Given the description of an element on the screen output the (x, y) to click on. 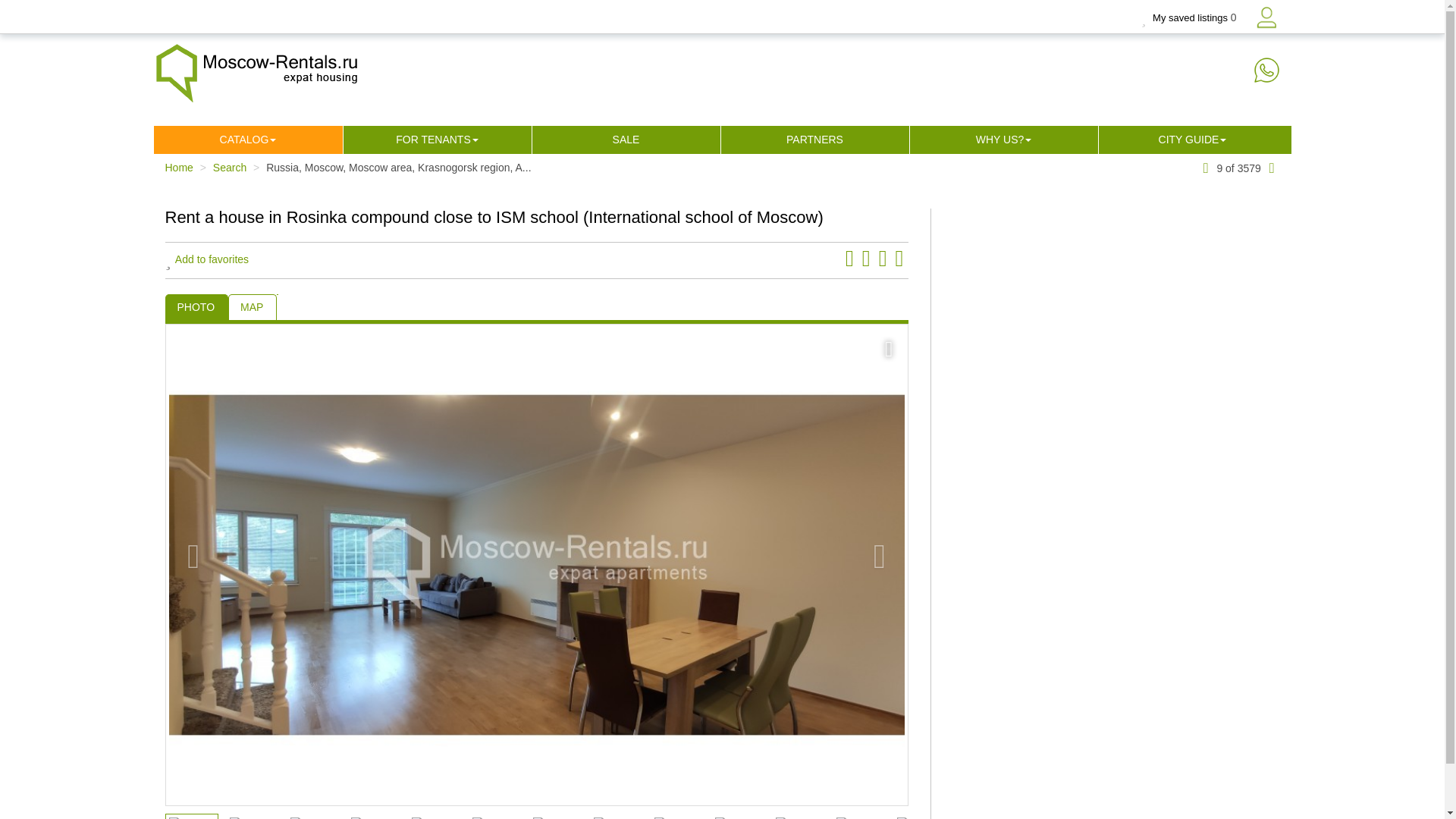
My saved listings (1185, 17)
CITY GUIDE (1189, 139)
WHY US? (1000, 139)
Add to favorites (206, 259)
FOR TENANTS (433, 139)
SALE (626, 139)
Home (179, 167)
PARTNERS (814, 139)
Search (229, 167)
